Given the description of an element on the screen output the (x, y) to click on. 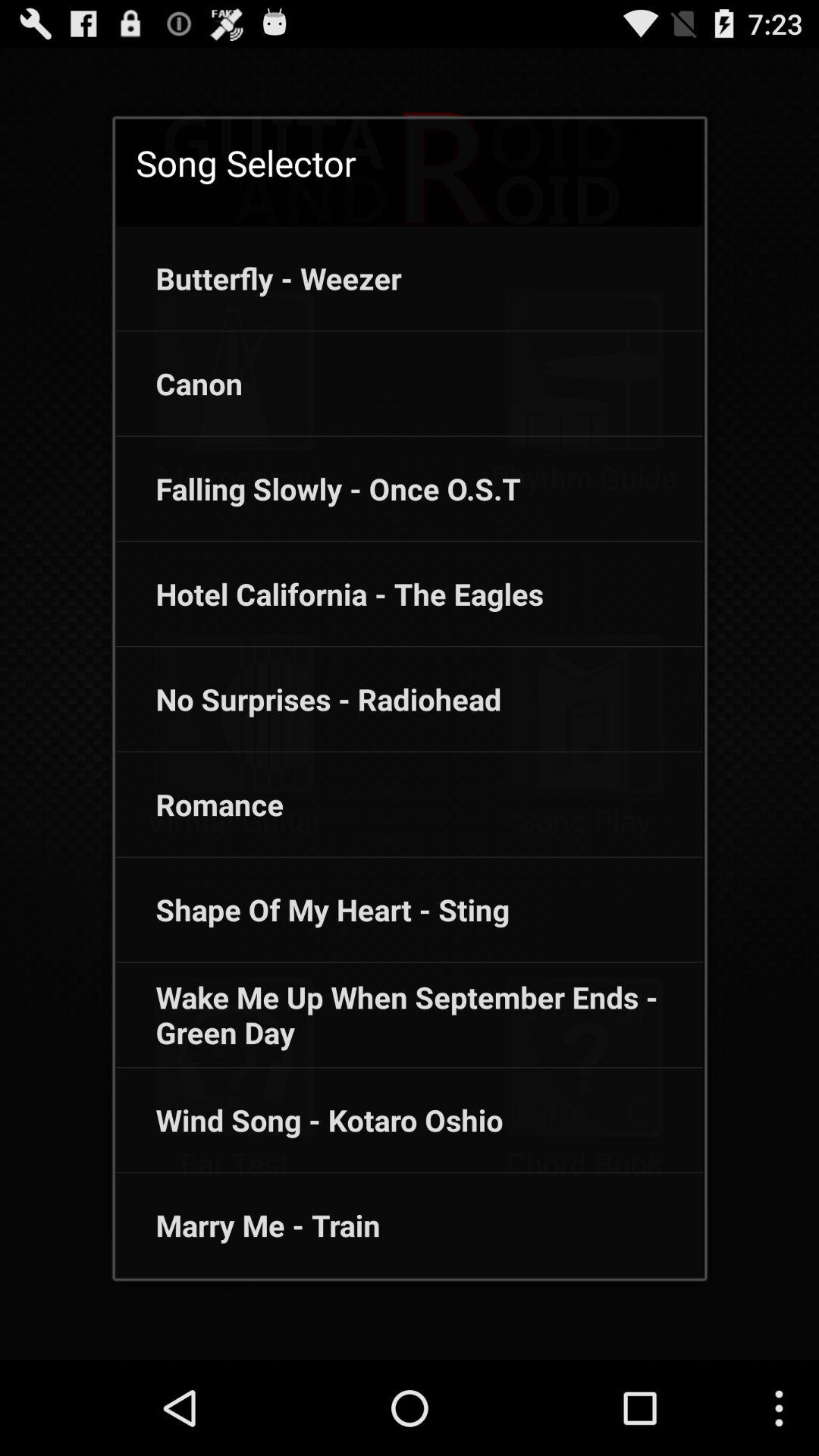
press the app above the romance icon (308, 699)
